Given the description of an element on the screen output the (x, y) to click on. 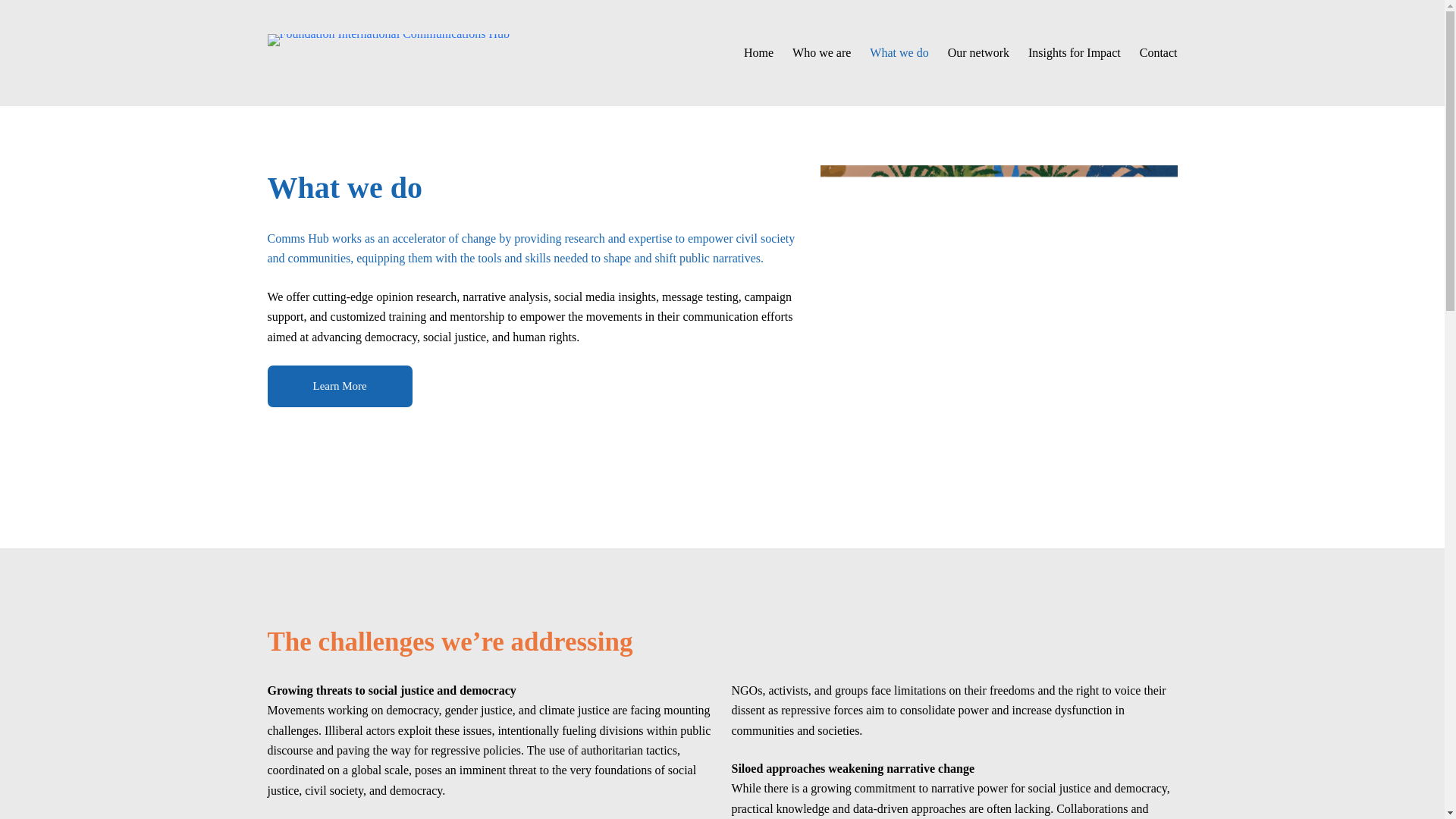
Learn More (339, 386)
Skip to content (15, 7)
Insights for Impact (1073, 53)
